Given the description of an element on the screen output the (x, y) to click on. 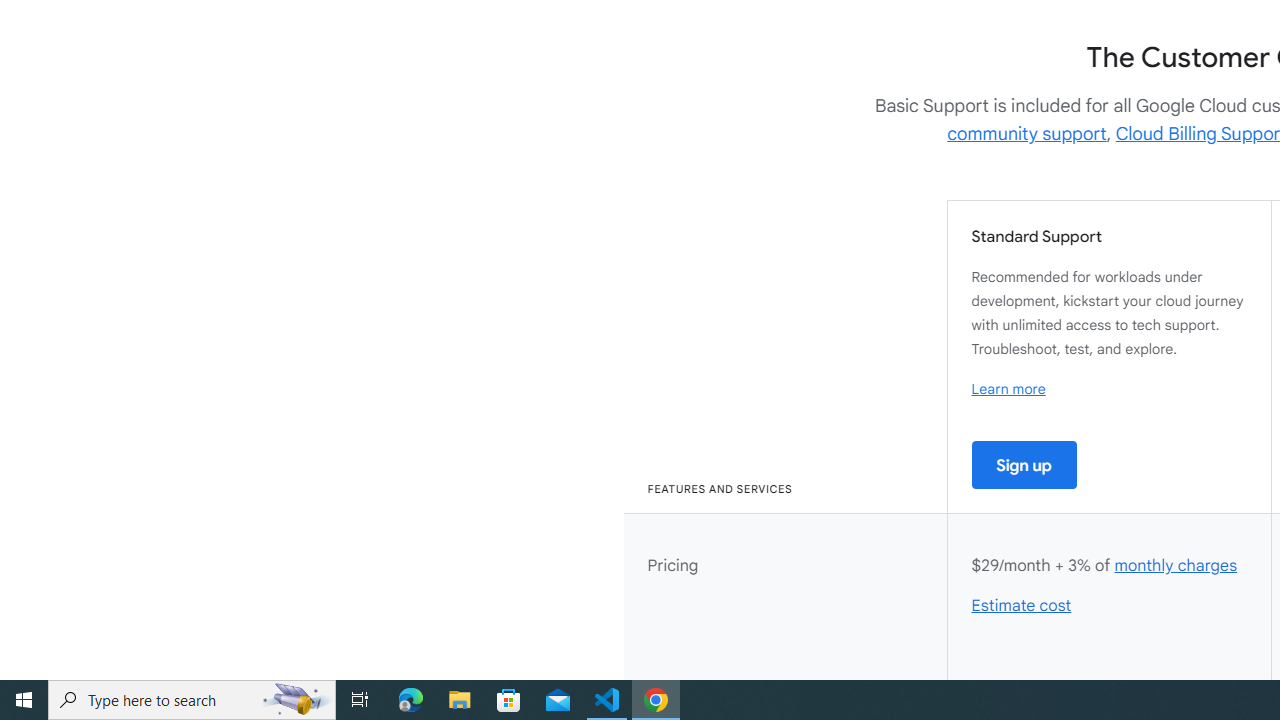
Learn more (1008, 389)
Estimate cost (1021, 606)
monthly charges (1175, 565)
community support (1027, 133)
Sign up (1023, 464)
